Given the description of an element on the screen output the (x, y) to click on. 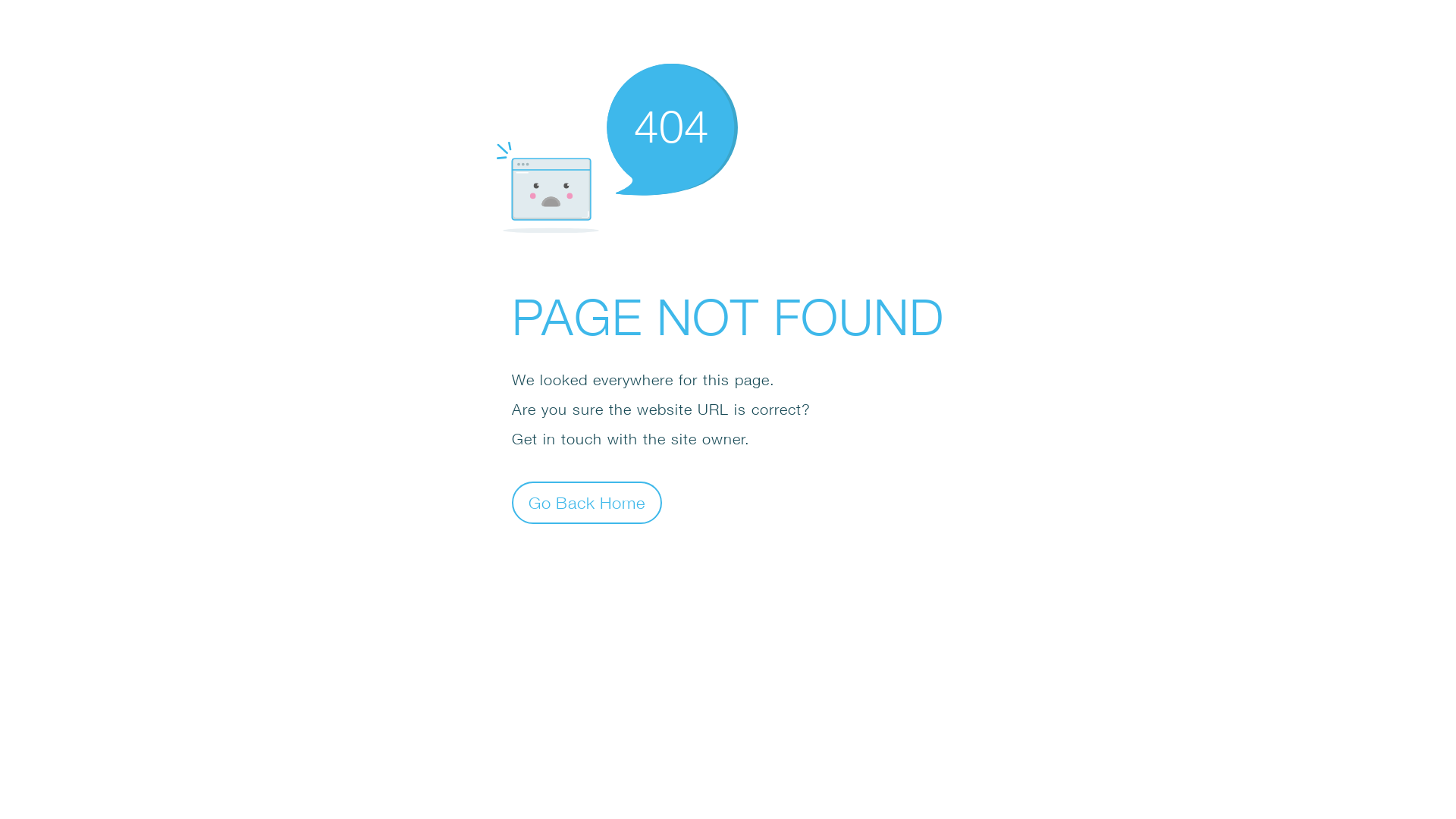
Go Back Home Element type: text (586, 502)
